Given the description of an element on the screen output the (x, y) to click on. 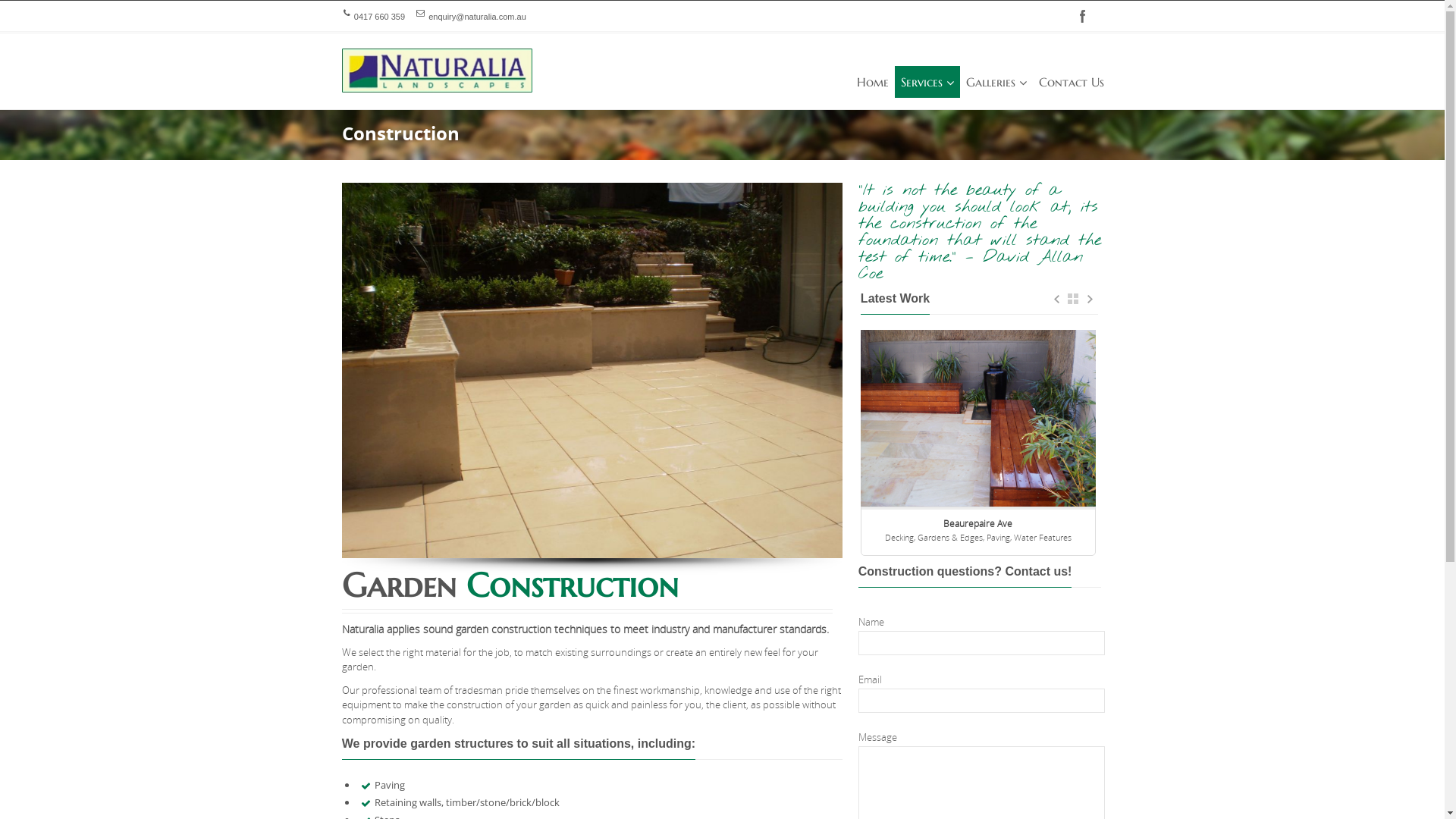
Contact Us Element type: text (1071, 81)
my logo Element type: hover (436, 70)
Beaurepaire Ave Element type: text (977, 523)
Services Element type: text (927, 81)
Galleries Element type: text (996, 81)
Home Element type: text (872, 81)
enquiry@naturalia.com.au Element type: text (477, 16)
